Given the description of an element on the screen output the (x, y) to click on. 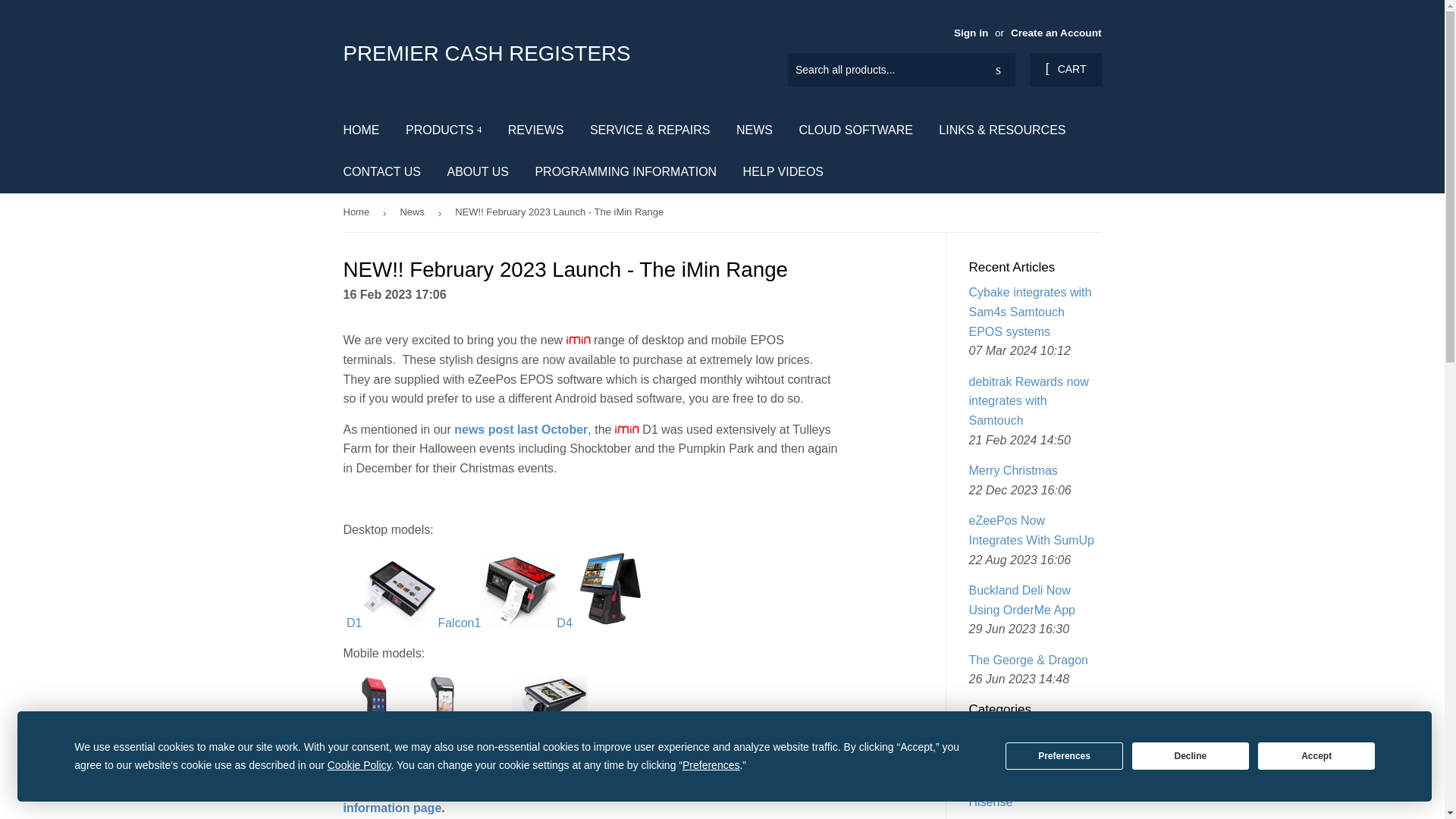
iMin M2 EPOS Mobile Terminal product page (364, 726)
Create an Account (1056, 32)
iMin Falcon1 EPOS Terminal product page (497, 622)
iMin M2-MAX Mobile EPOS Terminal product page (527, 726)
Sign in (970, 32)
Show articles tagged eZeePos (993, 779)
iMin D4 EPOS Terminal product page (600, 622)
Search (997, 70)
Premier Cash Registers News - Tulleys Farm use iMin D1 (521, 429)
iMin Swift1 Mobile EPOS Terminal product page (427, 726)
